Given the description of an element on the screen output the (x, y) to click on. 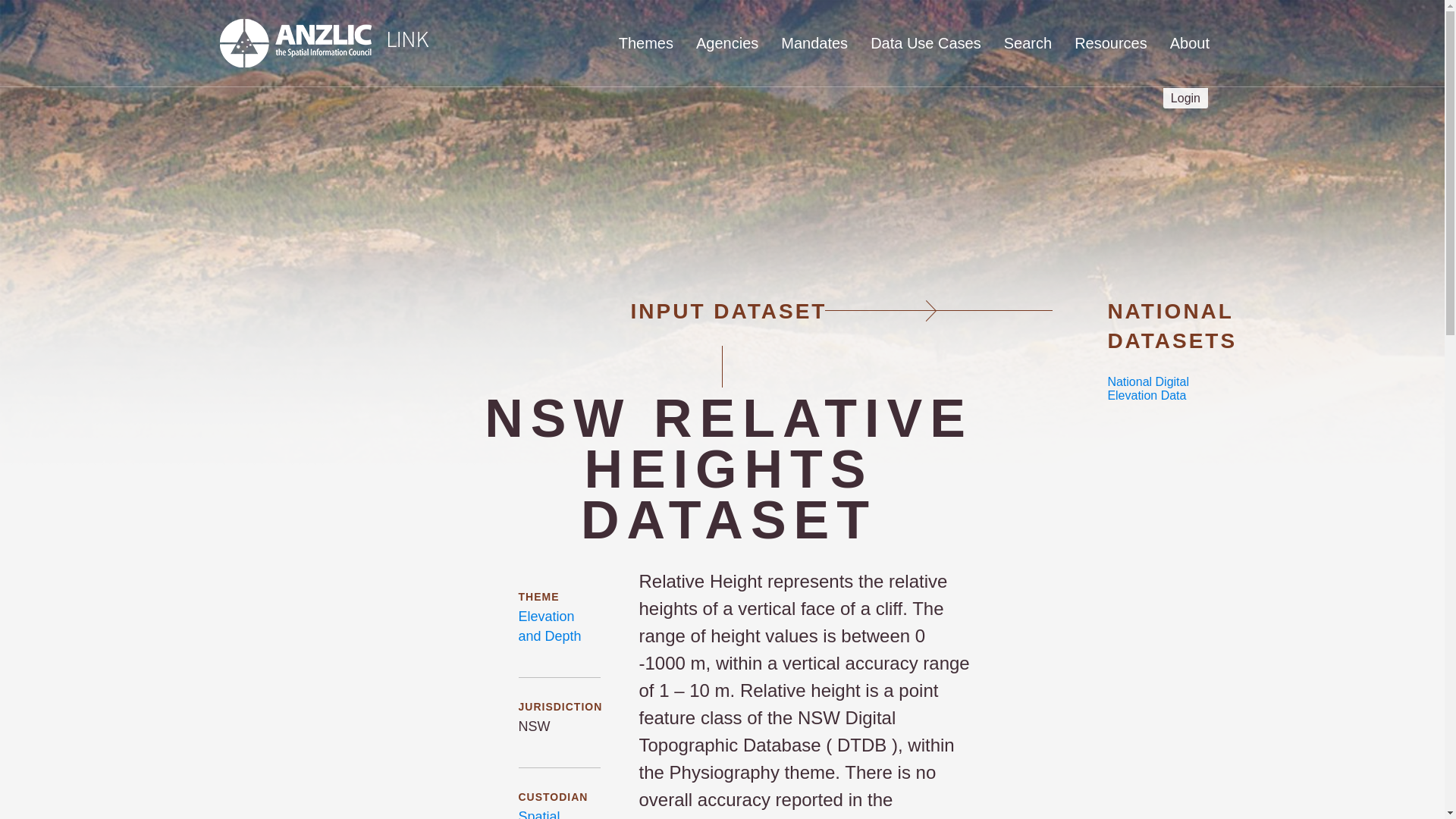
National Digital Elevation Data (1147, 388)
Home (446, 128)
Agencies (726, 42)
Log in to site (1185, 97)
Home (323, 43)
THE LOCATION INFORMATION KNOWLEDGE PLATFORM (446, 128)
Spatial Services (544, 814)
Login (1185, 97)
Themes (646, 42)
Resources (1110, 42)
Data Use Cases (925, 42)
Elevation and Depth (549, 626)
Mandates (814, 42)
